Given the description of an element on the screen output the (x, y) to click on. 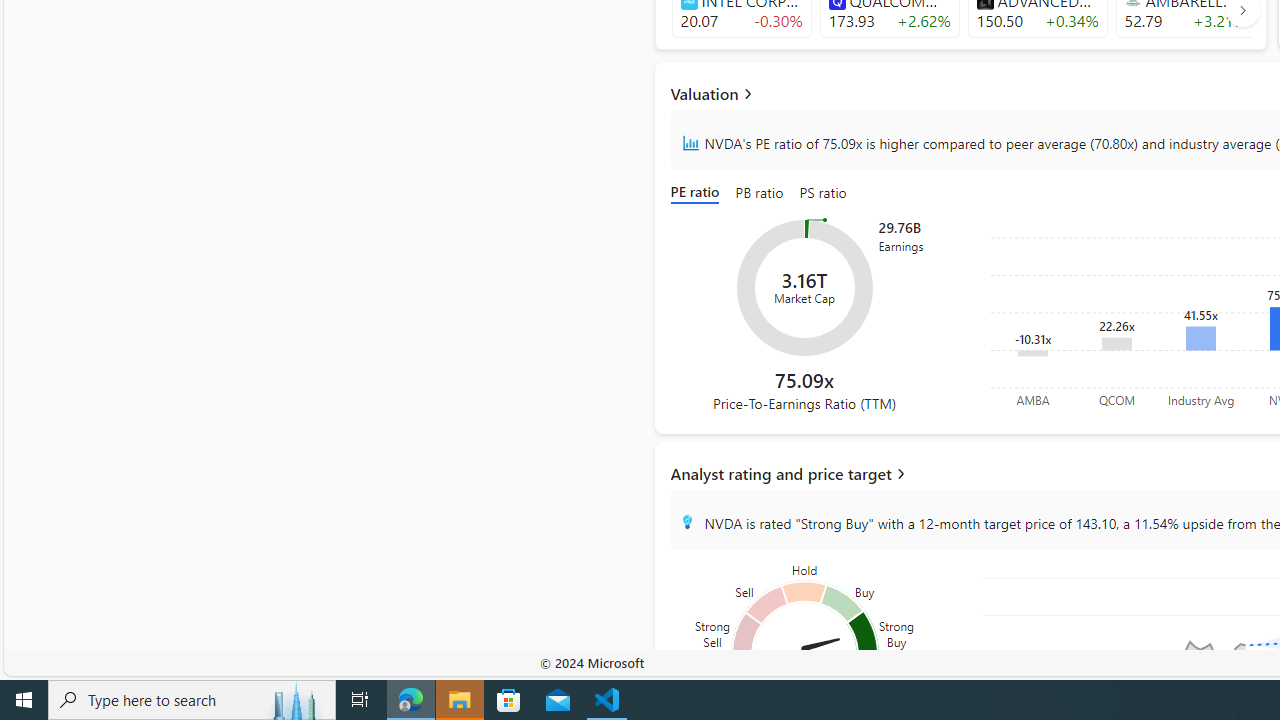
PE ratio (698, 193)
AutomationID: finance_carousel_navi_arrow (1242, 10)
Class: recharts-surface (804, 287)
PS ratio (823, 193)
PB ratio (759, 193)
